Given the description of an element on the screen output the (x, y) to click on. 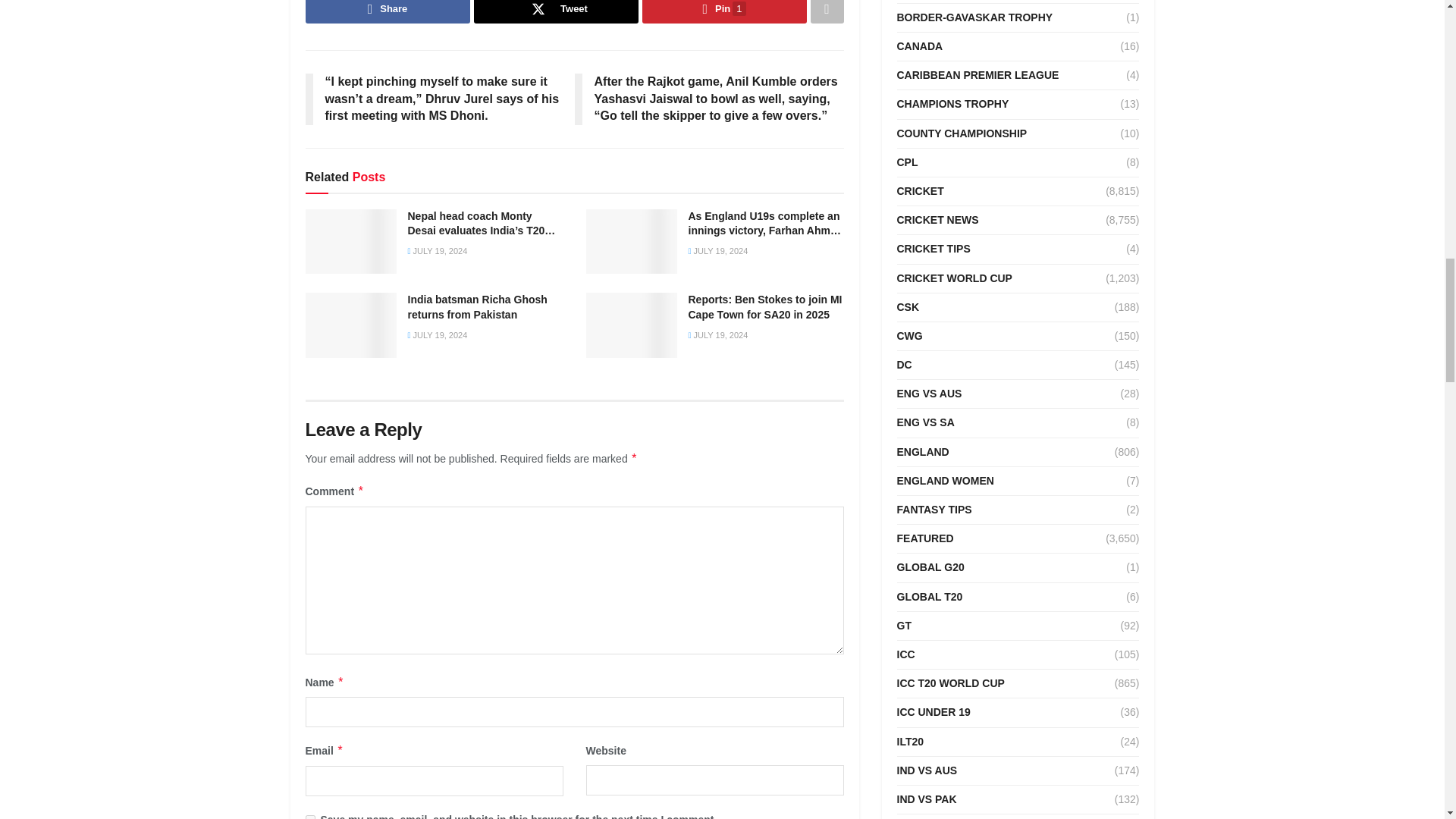
yes (309, 816)
